Given the description of an element on the screen output the (x, y) to click on. 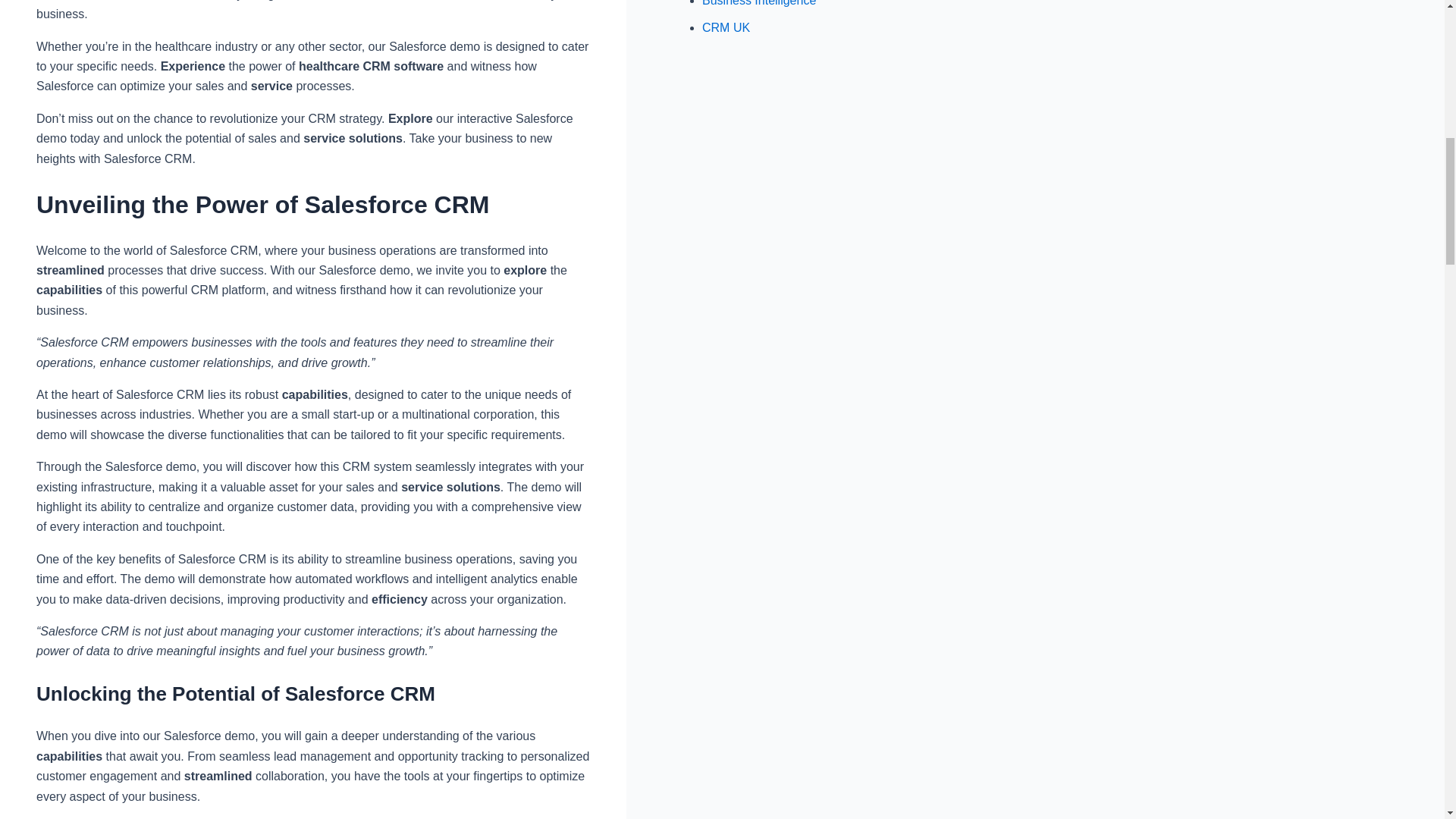
Business Intelligence (758, 3)
CRM UK (725, 27)
